Given the description of an element on the screen output the (x, y) to click on. 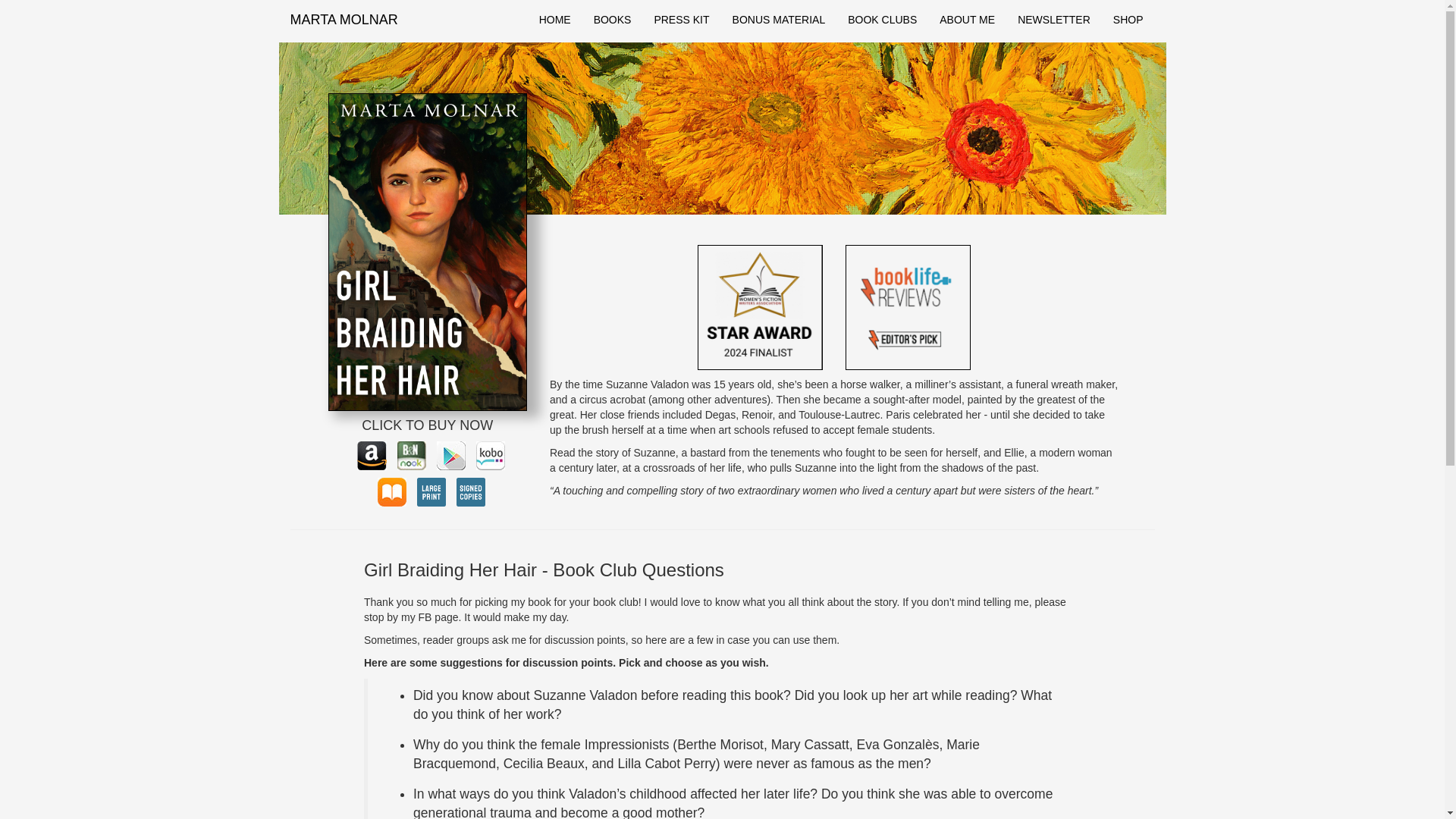
MARTA MOLNAR (344, 19)
SHOP (1128, 19)
PRESS KIT (681, 19)
BONUS MATERIAL (778, 19)
BOOK CLUBS (881, 19)
BOOKS (612, 19)
HOME (554, 19)
ABOUT ME (967, 19)
NEWSLETTER (1054, 19)
